Given the description of an element on the screen output the (x, y) to click on. 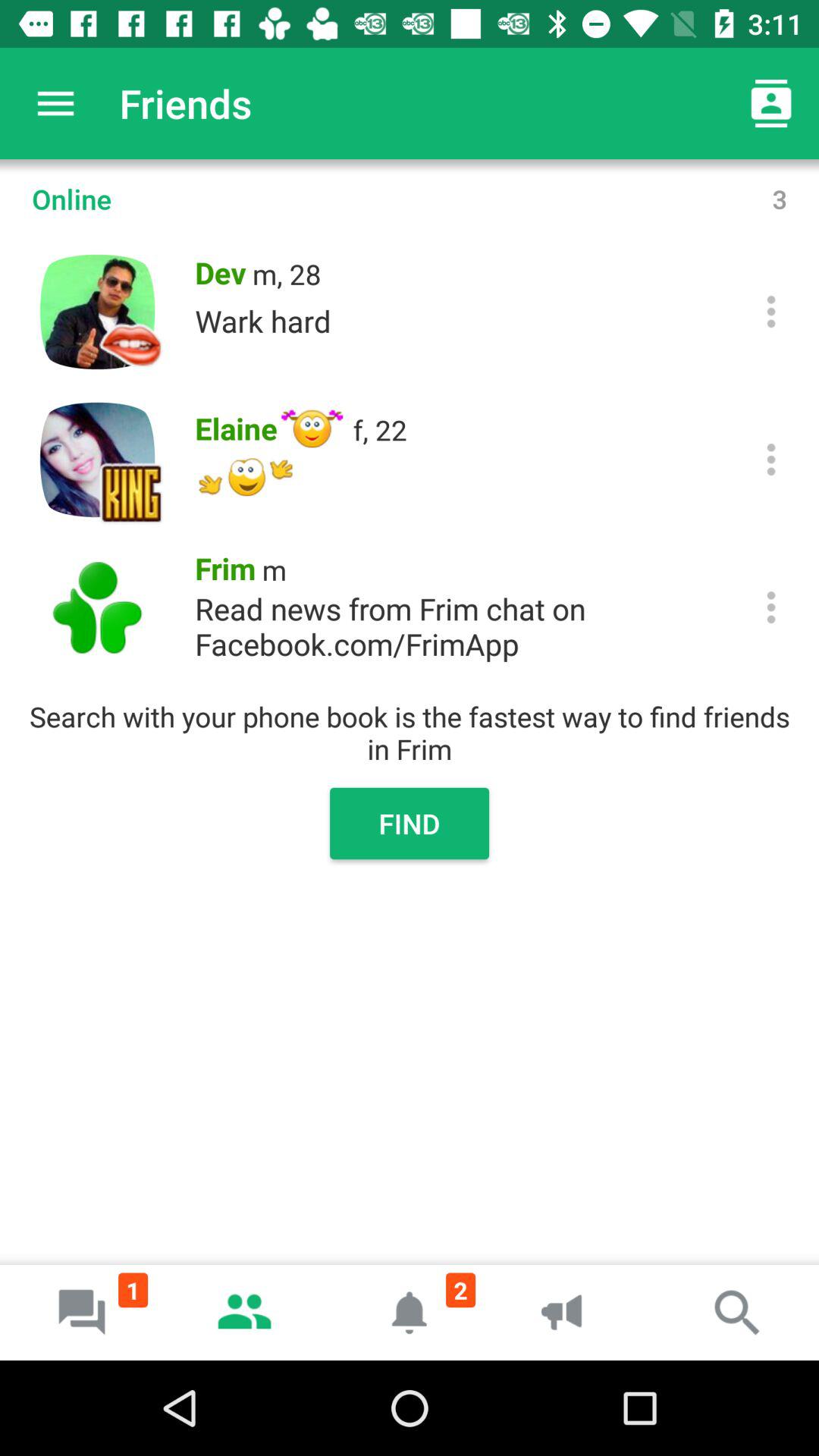
click more information (771, 607)
